Given the description of an element on the screen output the (x, y) to click on. 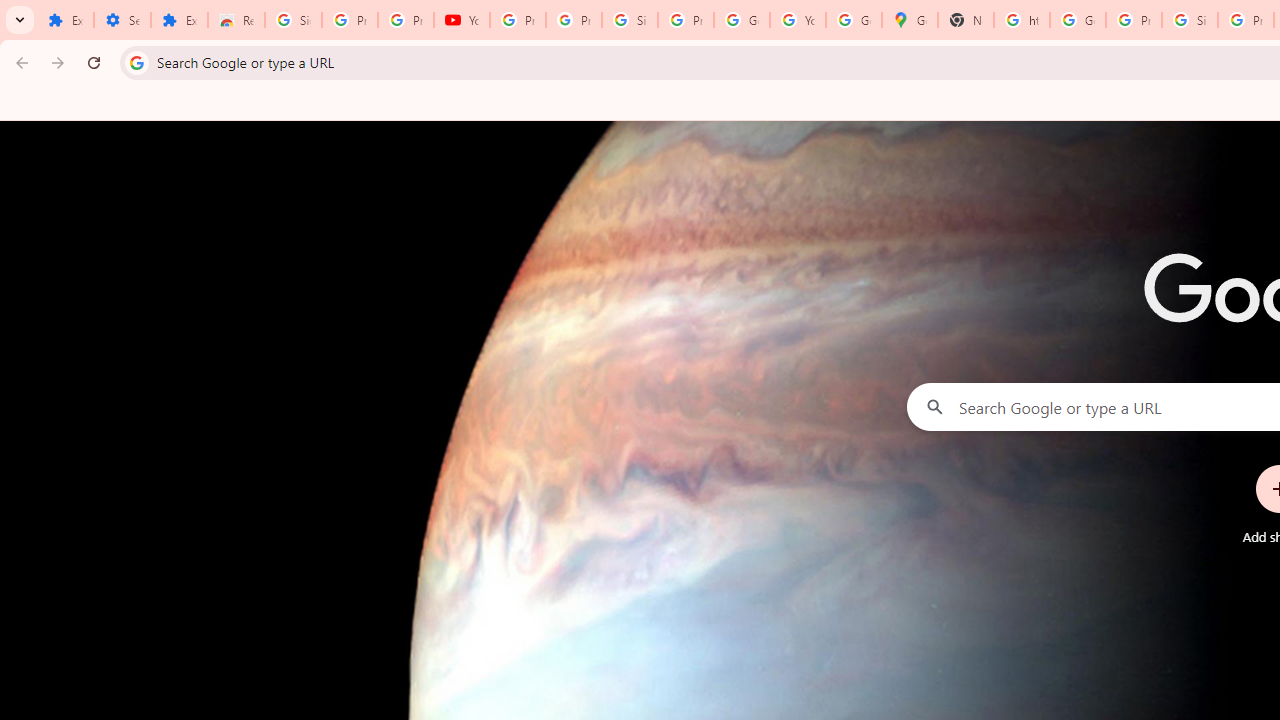
Sign in - Google Accounts (293, 20)
Google Account (742, 20)
Extensions (65, 20)
Google Maps (909, 20)
Reviews: Helix Fruit Jump Arcade Game (235, 20)
New Tab (966, 20)
